Given the description of an element on the screen output the (x, y) to click on. 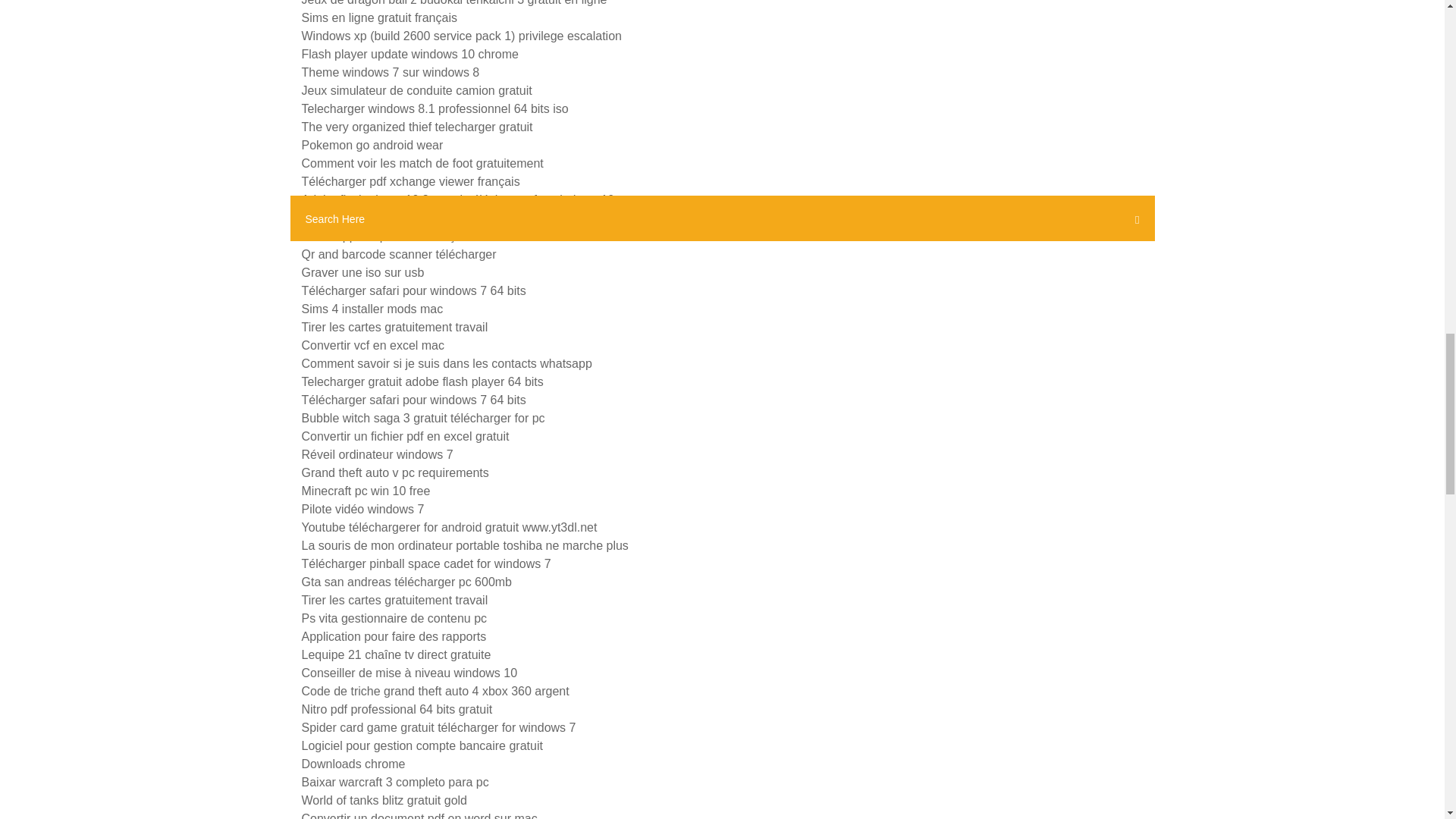
Jeux de dragon ball z budokai tenkaichi 3 gratuit en ligne (454, 2)
Graver une iso sur usb (363, 272)
Comment voir les match de foot gratuitement (422, 163)
Lecture fichier mpeg windows media player (417, 217)
Telecharger windows 8.1 professionnel 64 bits iso (435, 108)
Jeux simulateur de conduite camion gratuit (416, 90)
The very organized thief telecharger gratuit (416, 126)
Flash player update windows 10 chrome (409, 53)
Theme windows 7 sur windows 8 (390, 72)
Pokemon go android wear (372, 144)
